Given the description of an element on the screen output the (x, y) to click on. 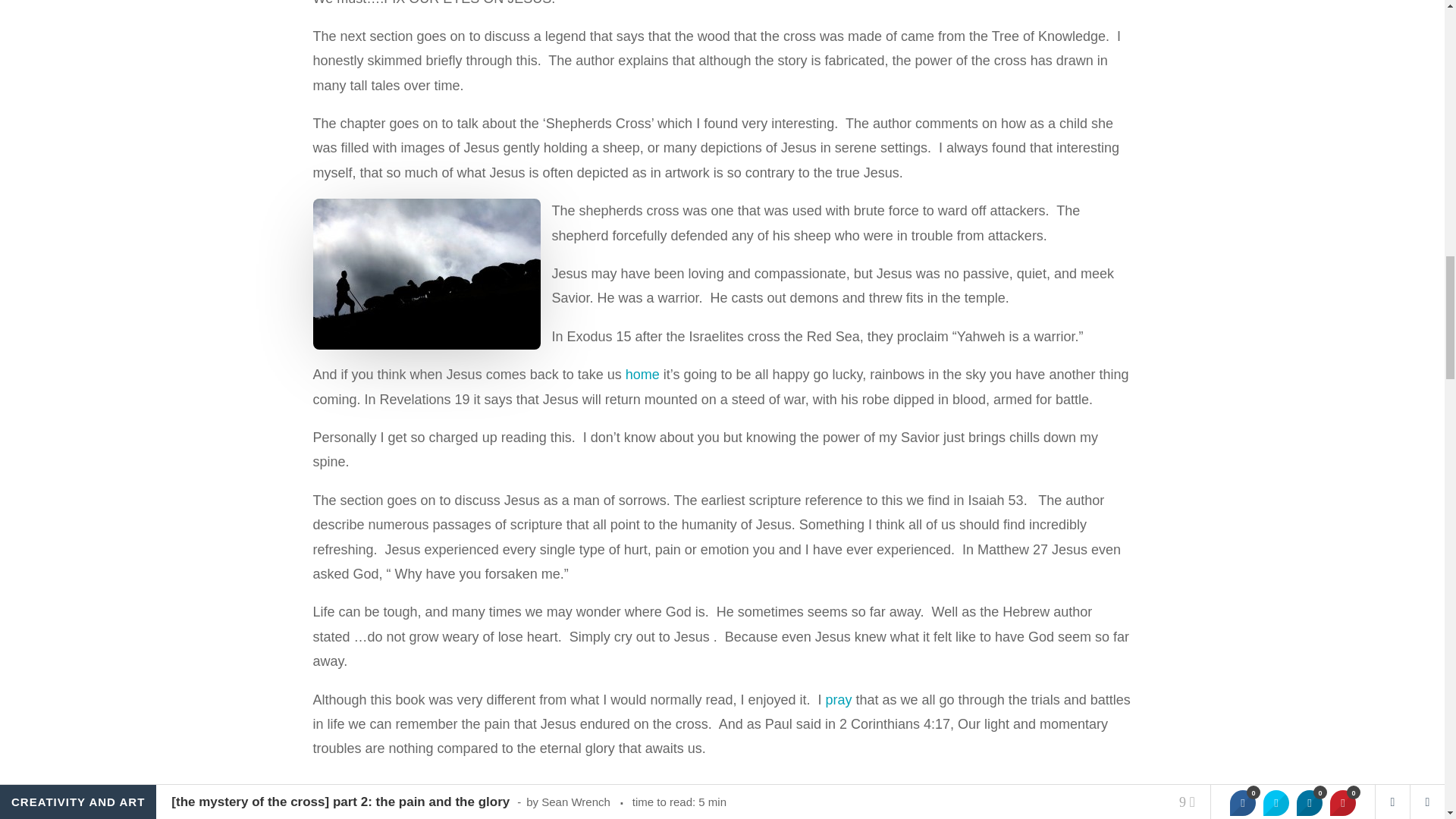
shepherds-staff (426, 274)
